Given the description of an element on the screen output the (x, y) to click on. 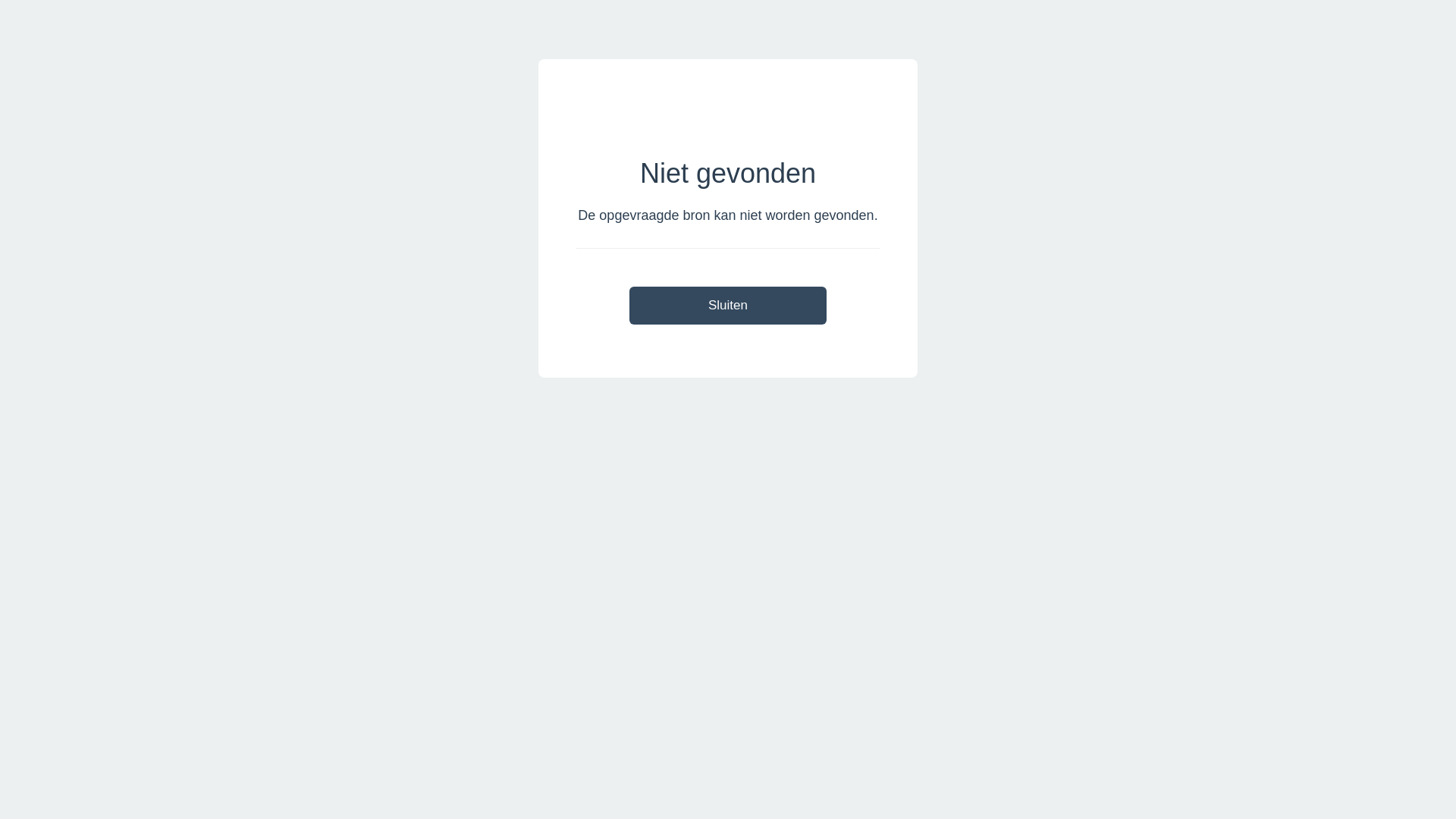
Sluiten (727, 305)
